Given the description of an element on the screen output the (x, y) to click on. 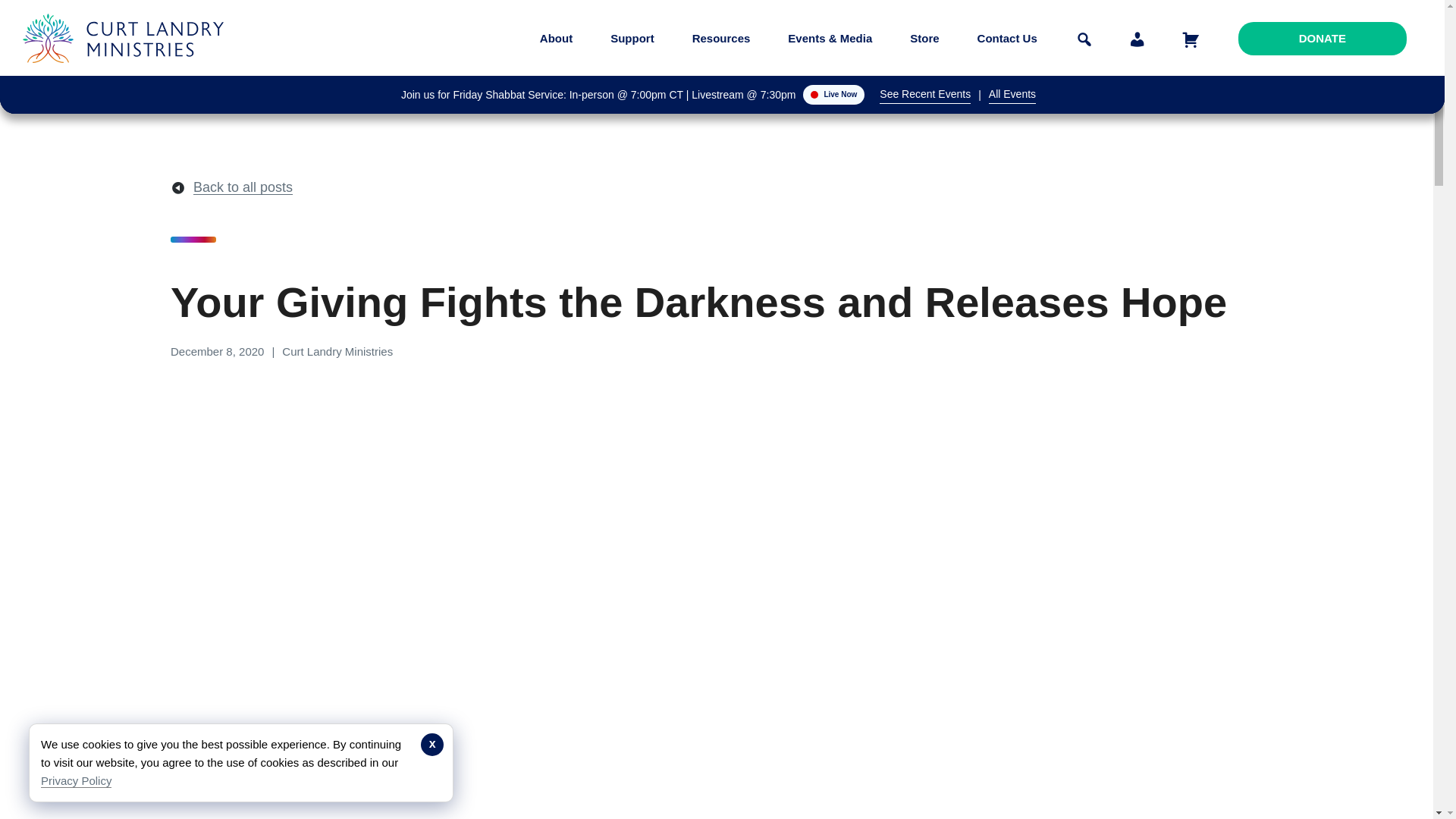
About (556, 38)
Curt Landry Ministries (127, 74)
Support (631, 38)
Resources (721, 38)
Store (924, 38)
